Given the description of an element on the screen output the (x, y) to click on. 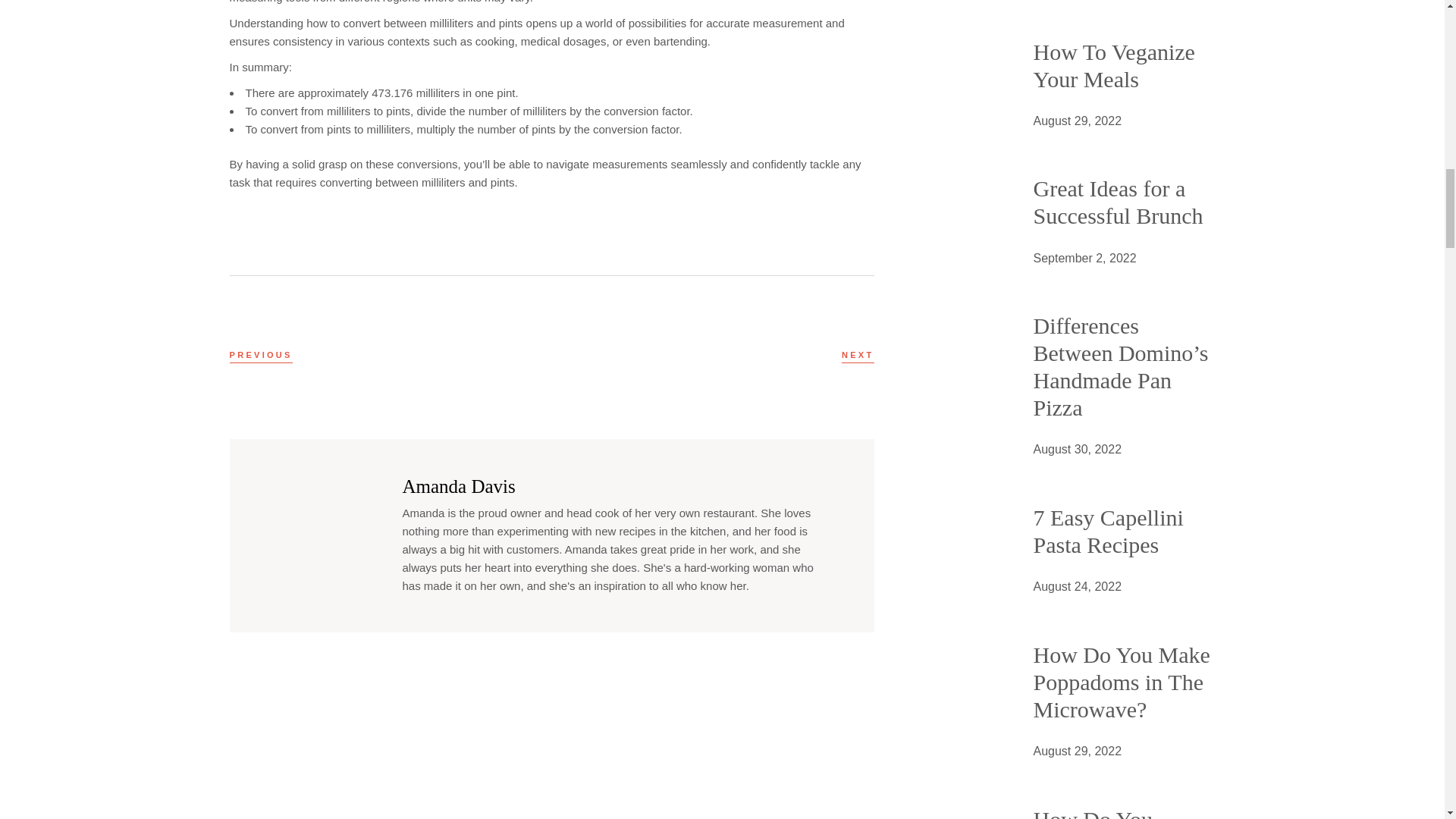
Title Text:  (1083, 258)
Title Text:  (1076, 751)
Title Text:  (1076, 587)
Title Text:  (1076, 449)
Title Text:  (1076, 121)
PREVIOUS (260, 355)
Amanda Davis (458, 485)
NEXT (858, 355)
